Given the description of an element on the screen output the (x, y) to click on. 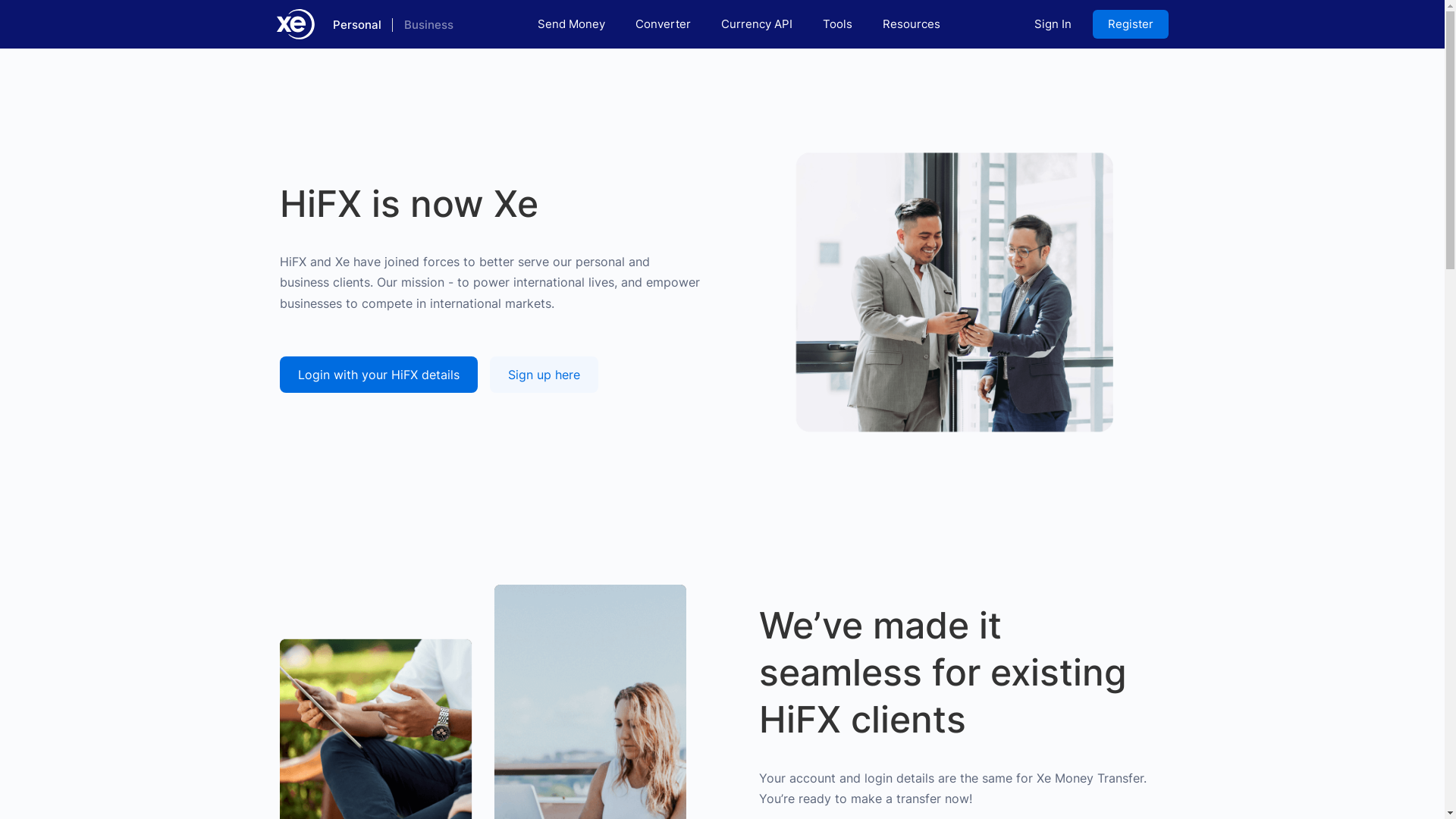
Personal Element type: text (356, 23)
Register Element type: text (1129, 24)
Send Money Element type: text (571, 24)
Sign In Element type: text (1052, 24)
Currency API Element type: text (756, 24)
Tools Element type: text (837, 24)
Login with your HiFX details Element type: text (377, 374)
Sign up here Element type: text (543, 374)
Business Element type: text (427, 23)
Converter Element type: text (663, 24)
Resources Element type: text (911, 24)
